Given the description of an element on the screen output the (x, y) to click on. 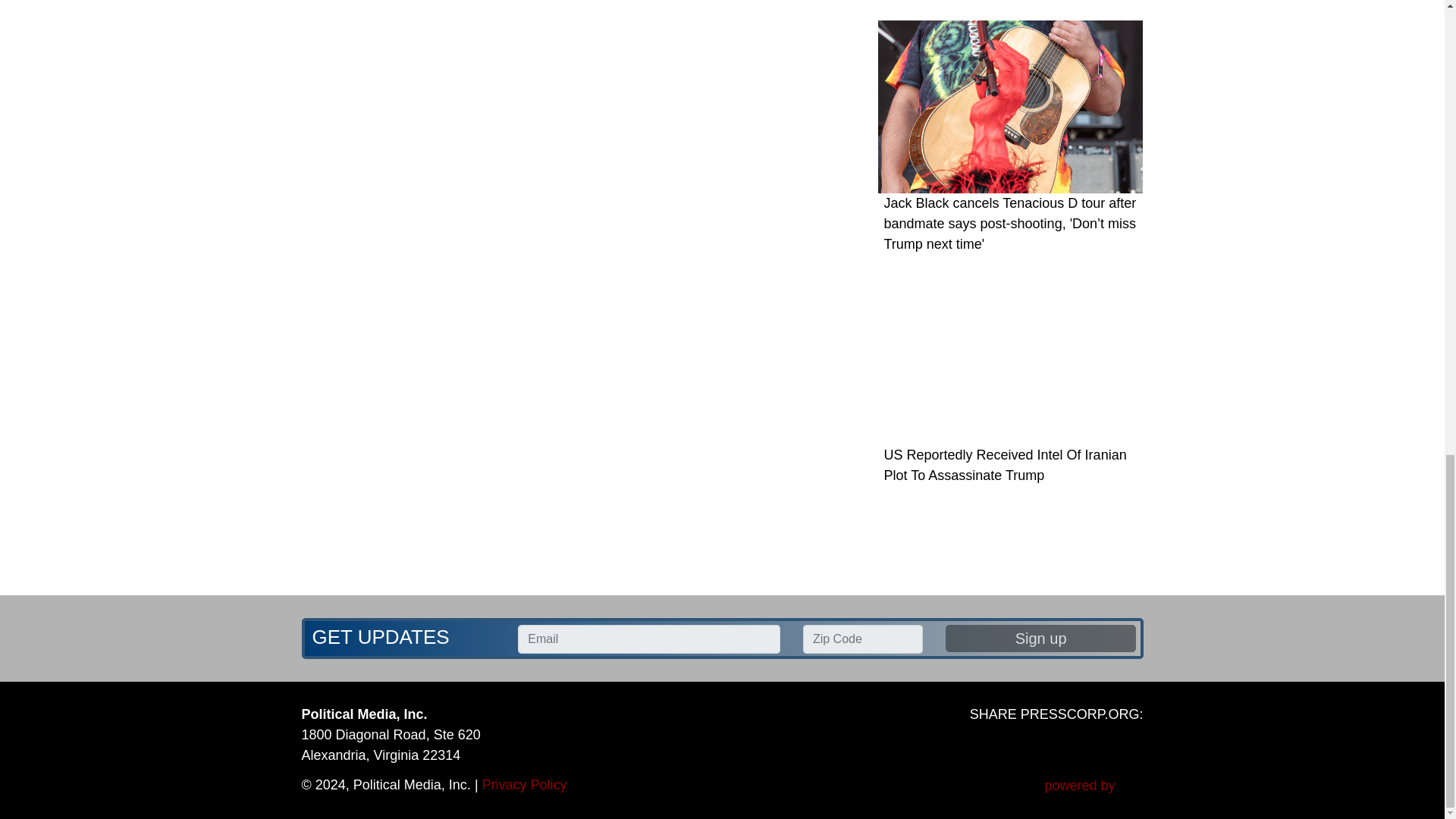
Sign up (1040, 637)
Privacy Policy (524, 784)
